Given the description of an element on the screen output the (x, y) to click on. 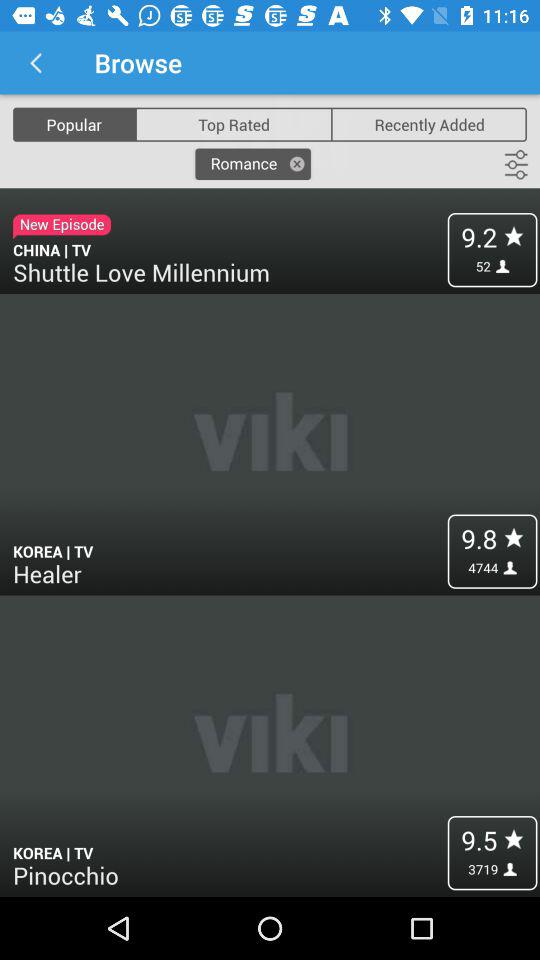
select romance icon (252, 164)
